Given the description of an element on the screen output the (x, y) to click on. 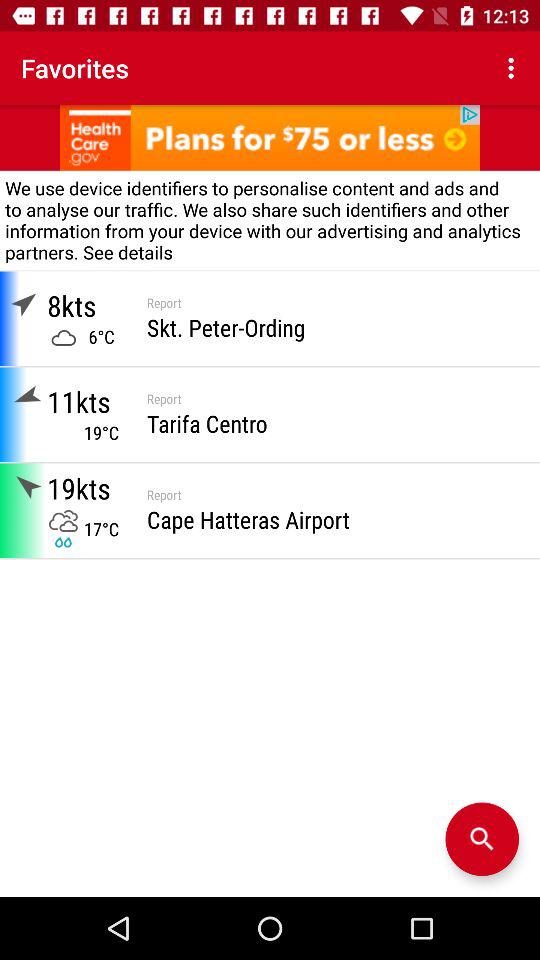
search (482, 839)
